Given the description of an element on the screen output the (x, y) to click on. 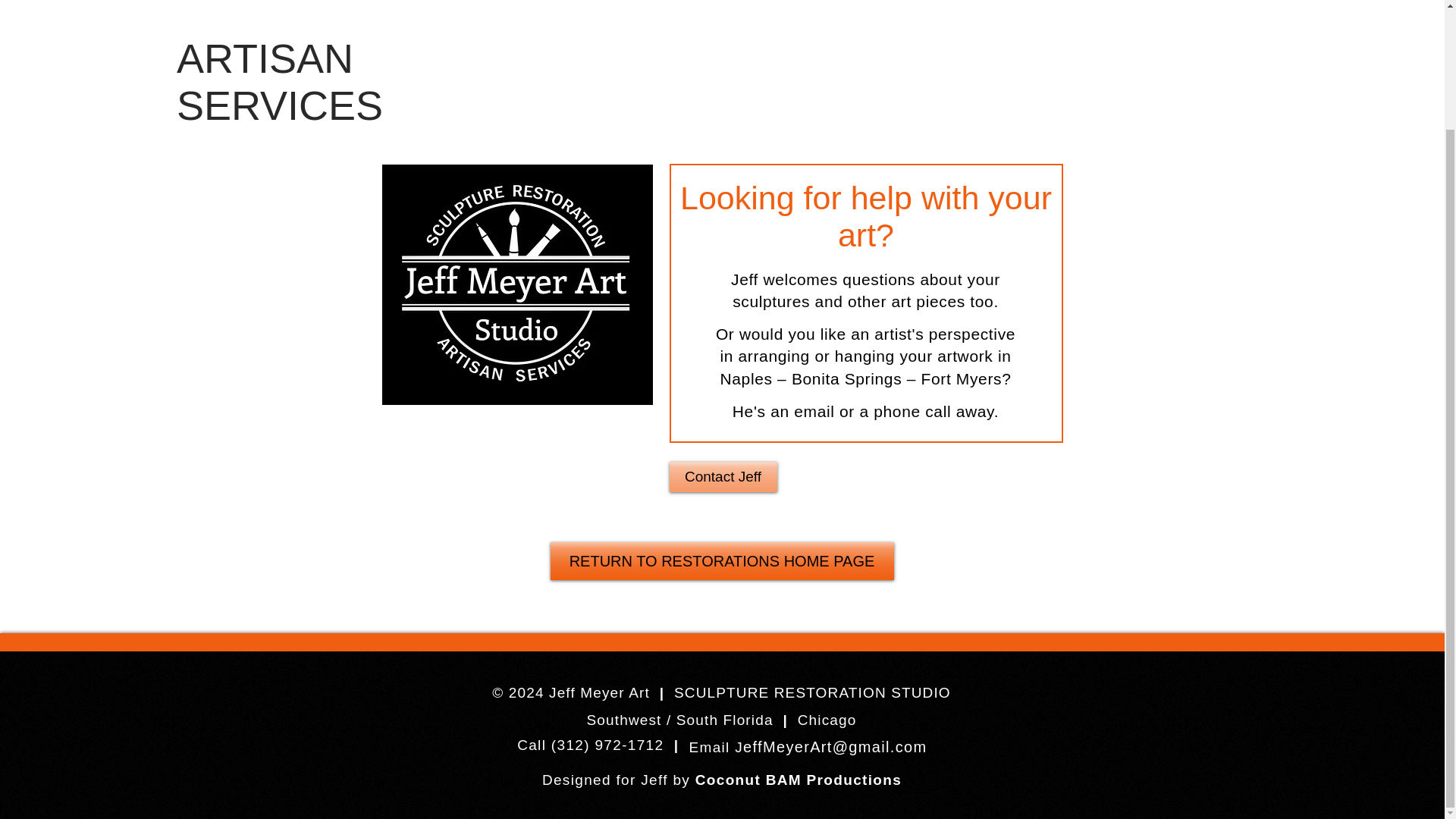
Contact Jeff (722, 476)
Coconut BAM Productions (798, 779)
